Given the description of an element on the screen output the (x, y) to click on. 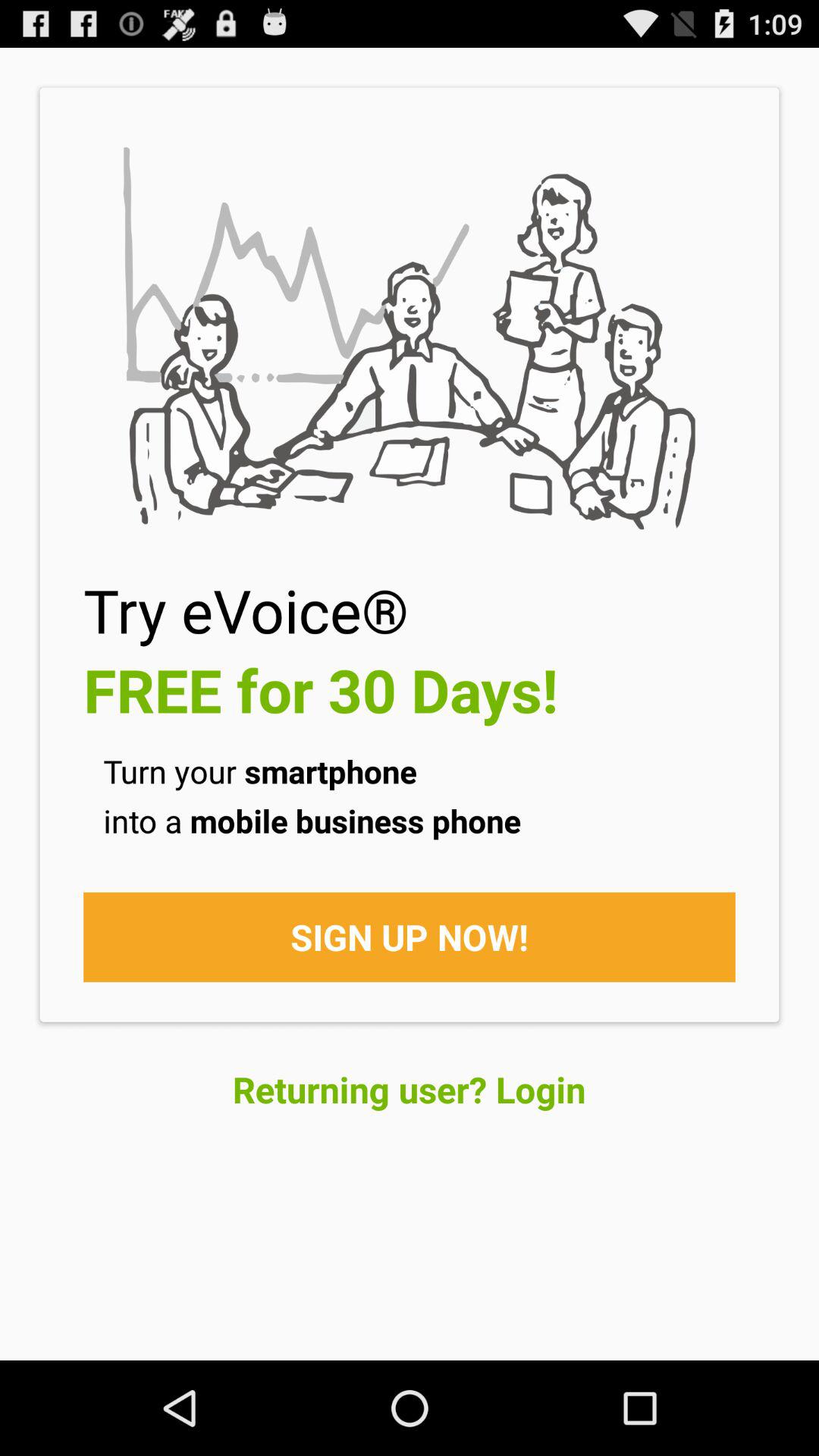
tap returning user? login at the bottom (409, 1089)
